Given the description of an element on the screen output the (x, y) to click on. 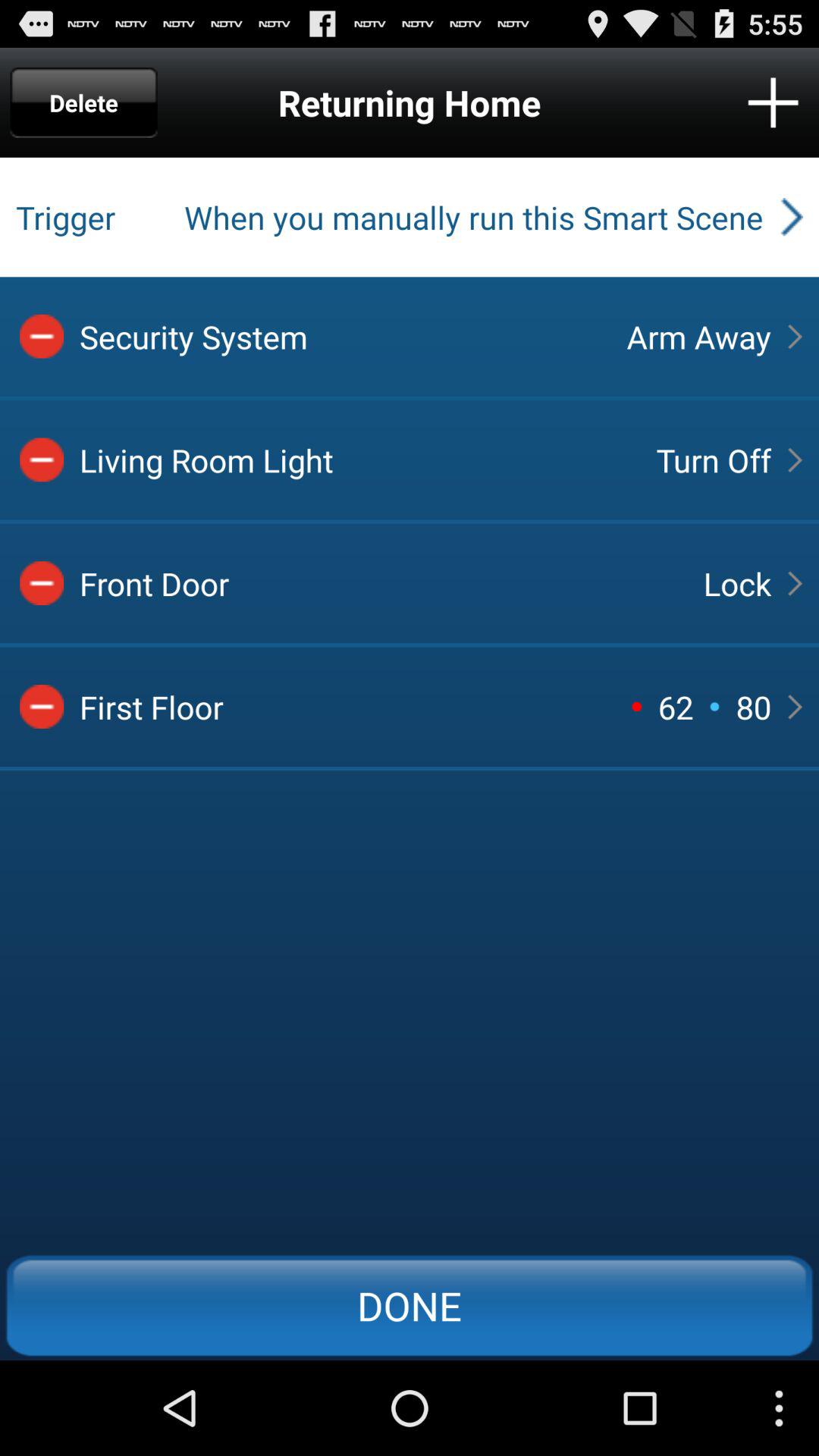
toggle select option (41, 459)
